Given the description of an element on the screen output the (x, y) to click on. 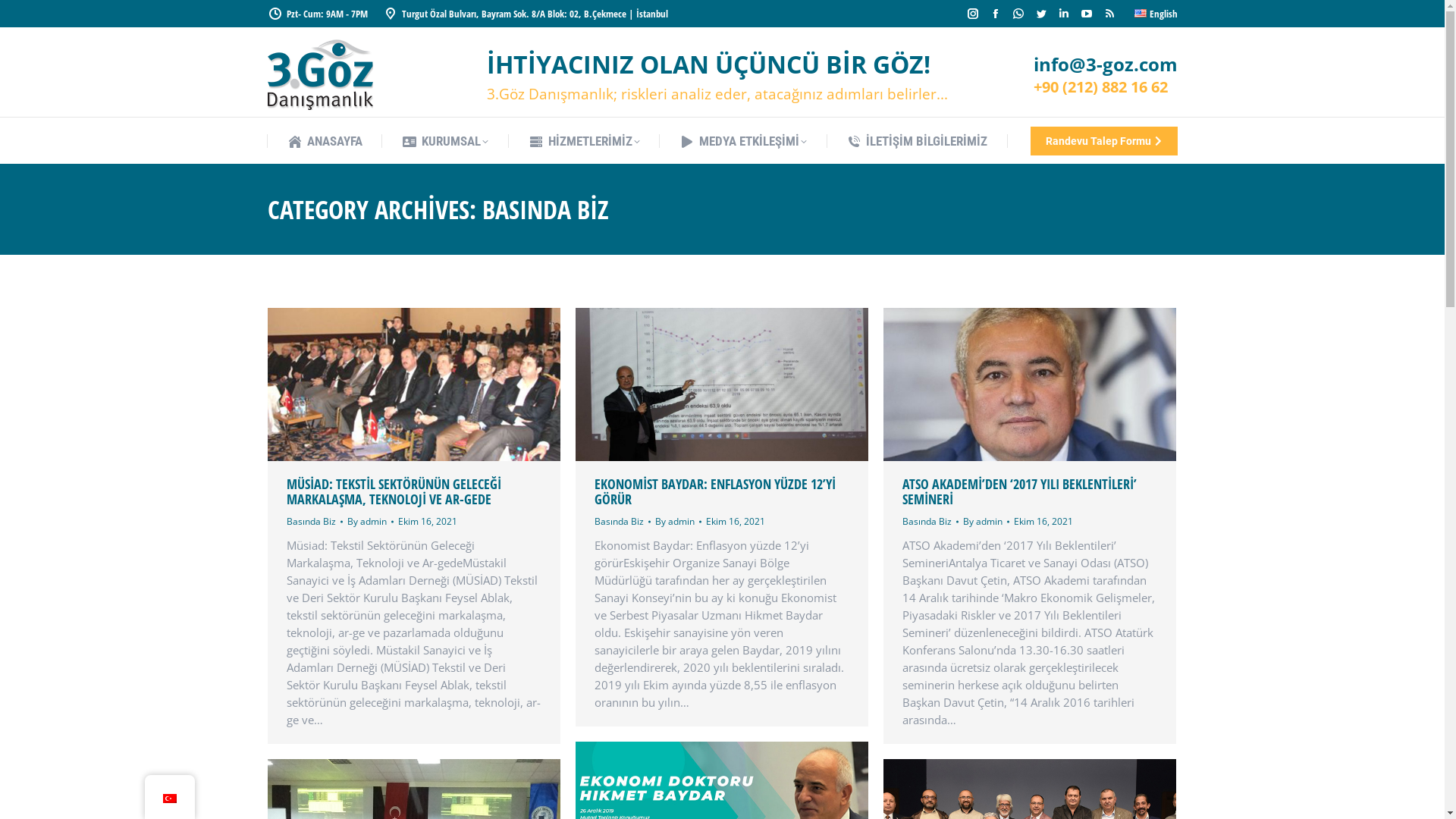
By admin Element type: text (678, 521)
YouTube page opens in new window Element type: text (1086, 13)
Twitter page opens in new window Element type: text (1041, 13)
Ekim 16, 2021 Element type: text (734, 521)
Turkish Element type: hover (168, 798)
Linkedin page opens in new window Element type: text (1063, 13)
Ekim 16, 2021 Element type: text (1042, 521)
info@3-goz.com Element type: text (1104, 66)
Whatsapp page opens in new window Element type: text (1018, 13)
KURUMSAL Element type: text (444, 141)
ekonomist-baydar-enflasyon-yuzde-12yi-gorur-245 Element type: hover (720, 384)
ANASAYFA Element type: text (324, 141)
By admin Element type: text (986, 521)
atso-akademiden-2017-yili-beklentileri-semineri-244 Element type: hover (1028, 384)
Instagram page opens in new window Element type: text (972, 13)
Ekim 16, 2021 Element type: text (426, 521)
Randevu Talep Formu Element type: text (1102, 139)
HIZMETLERIMIZ Element type: text (584, 141)
+90 (212) 882 16 62 Element type: text (1099, 87)
English Element type: text (1155, 13)
Rss page opens in new window Element type: text (1109, 13)
Facebook page opens in new window Element type: text (995, 13)
By admin Element type: text (370, 521)
